Given the description of an element on the screen output the (x, y) to click on. 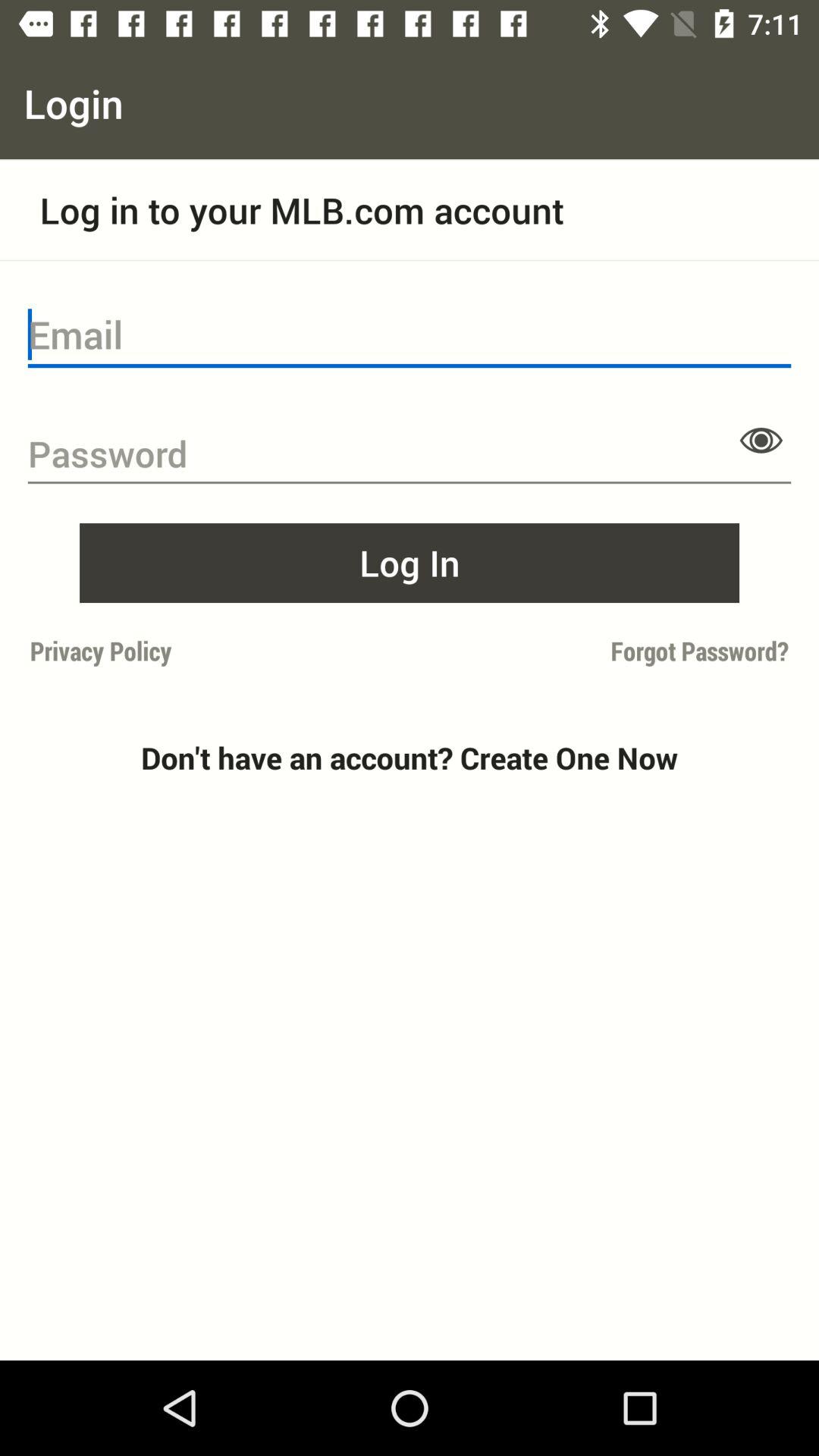
select icon on the left (214, 650)
